Given the description of an element on the screen output the (x, y) to click on. 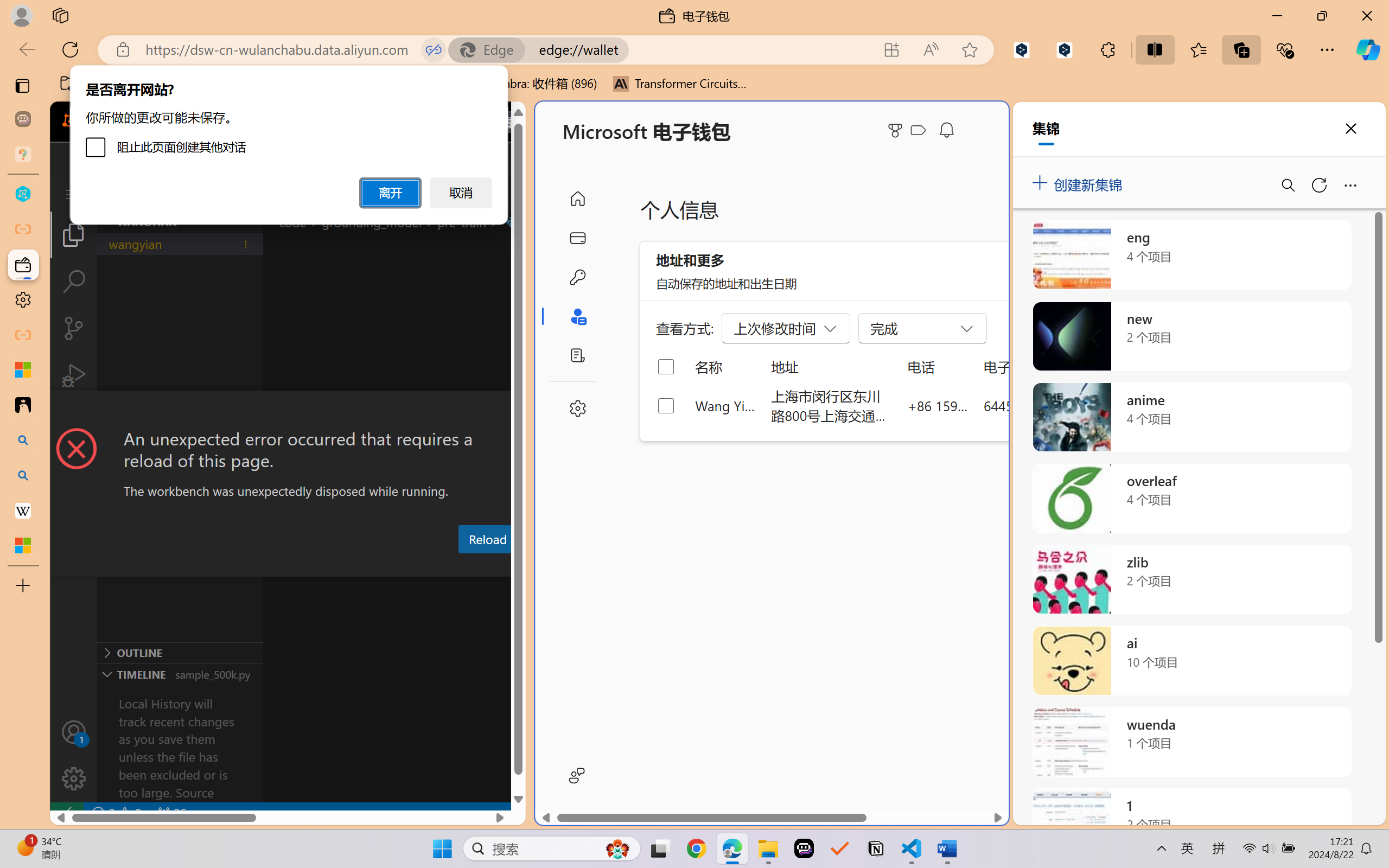
Timeline Section (179, 673)
Transformer Circuits Thread (680, 83)
